Given the description of an element on the screen output the (x, y) to click on. 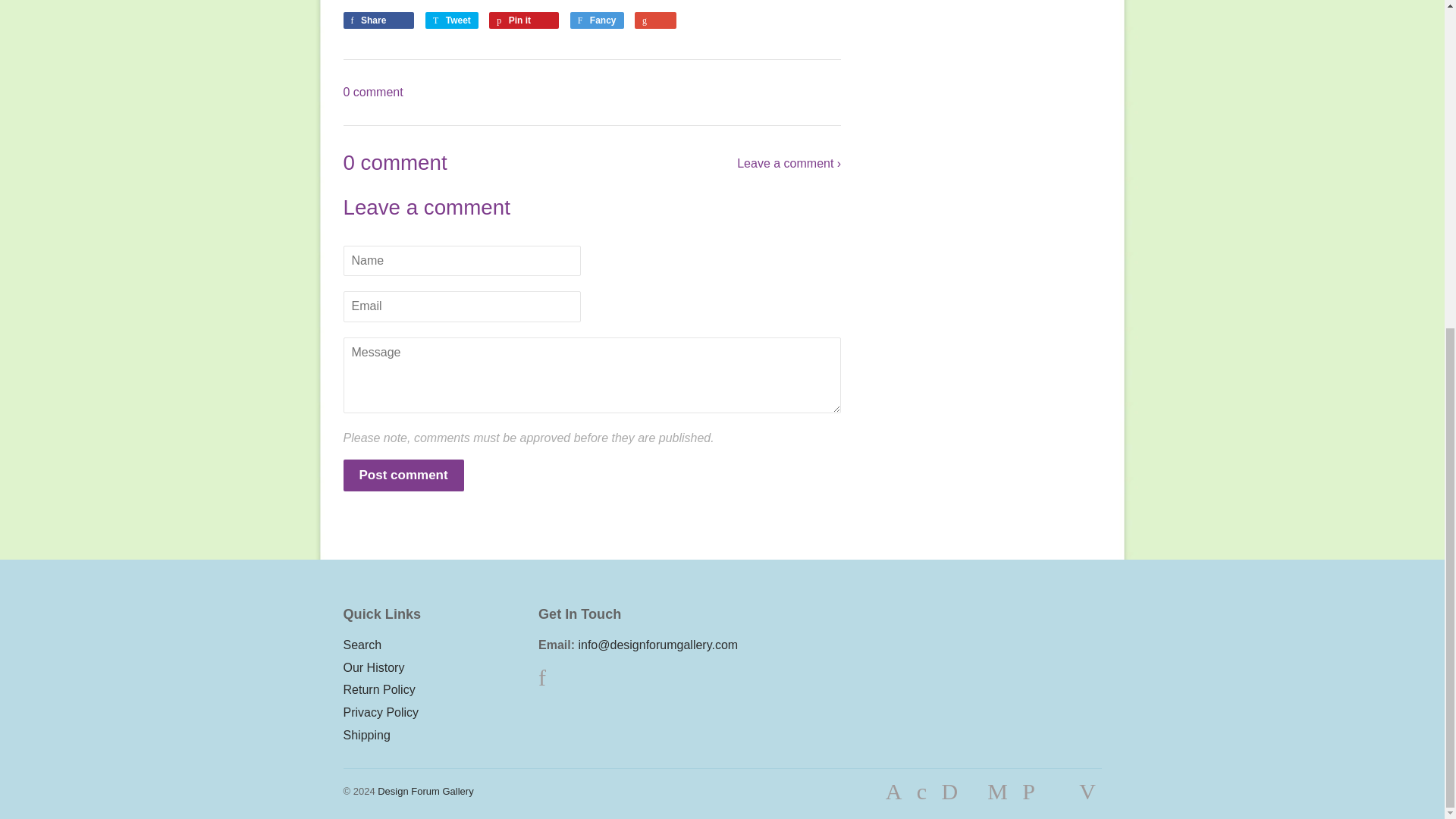
Post comment (402, 475)
